Given the description of an element on the screen output the (x, y) to click on. 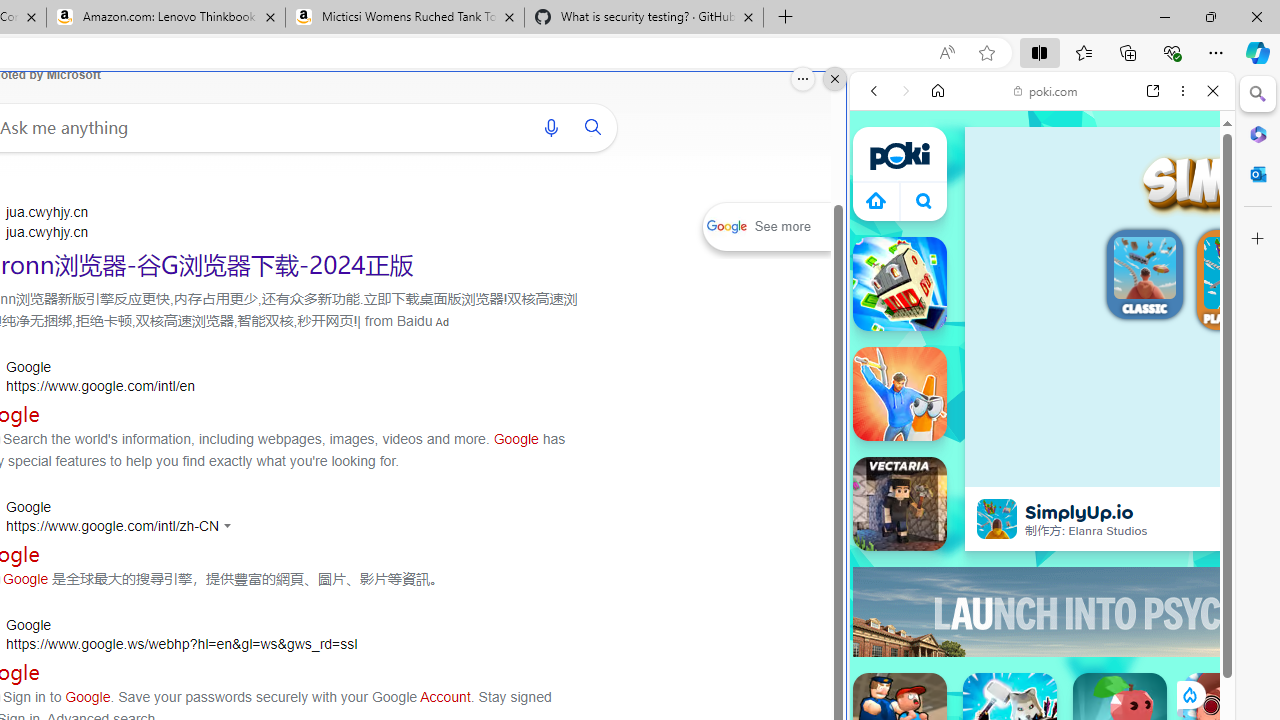
Vectaria.io Vectaria.io (899, 503)
Io Games (1042, 617)
Poki (1034, 288)
Simply Prop Hunt Simply Prop Hunt (899, 393)
PLAYGROUND (1240, 282)
Car Games (1042, 469)
Class: B_5ykBA46kDOxiz_R9wm (923, 200)
___ (879, 577)
Class: rCs5cyEiqiTpYvt_VBCR (1189, 695)
